Given the description of an element on the screen output the (x, y) to click on. 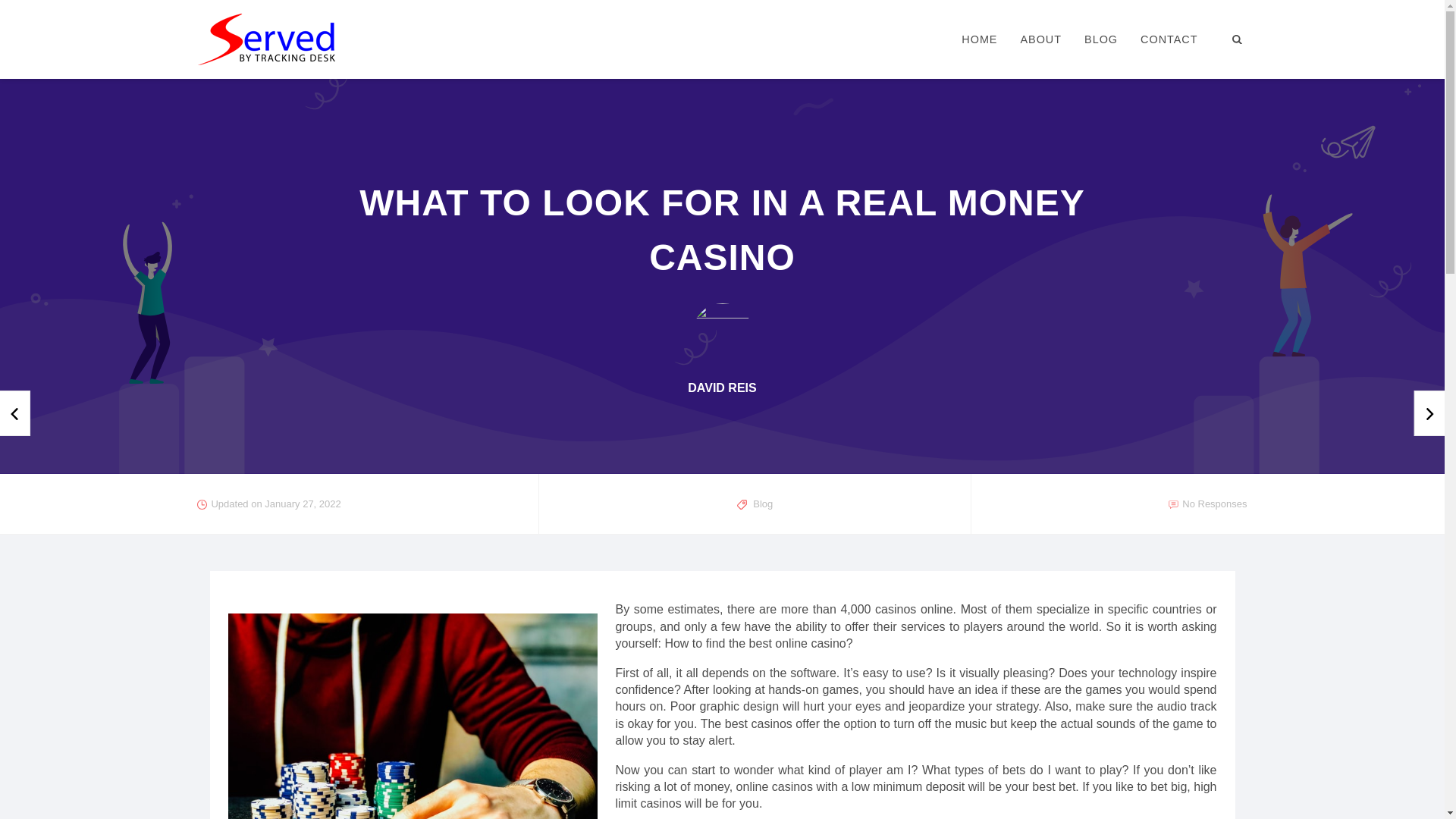
No Responses (1214, 503)
Blog (762, 503)
CONTACT (1168, 39)
January 27, 2022 (302, 503)
HOME (979, 39)
Live Gambling Casinos (3, 413)
No Responses (1214, 503)
ABOUT (1041, 39)
BLOG (1101, 39)
